Given the description of an element on the screen output the (x, y) to click on. 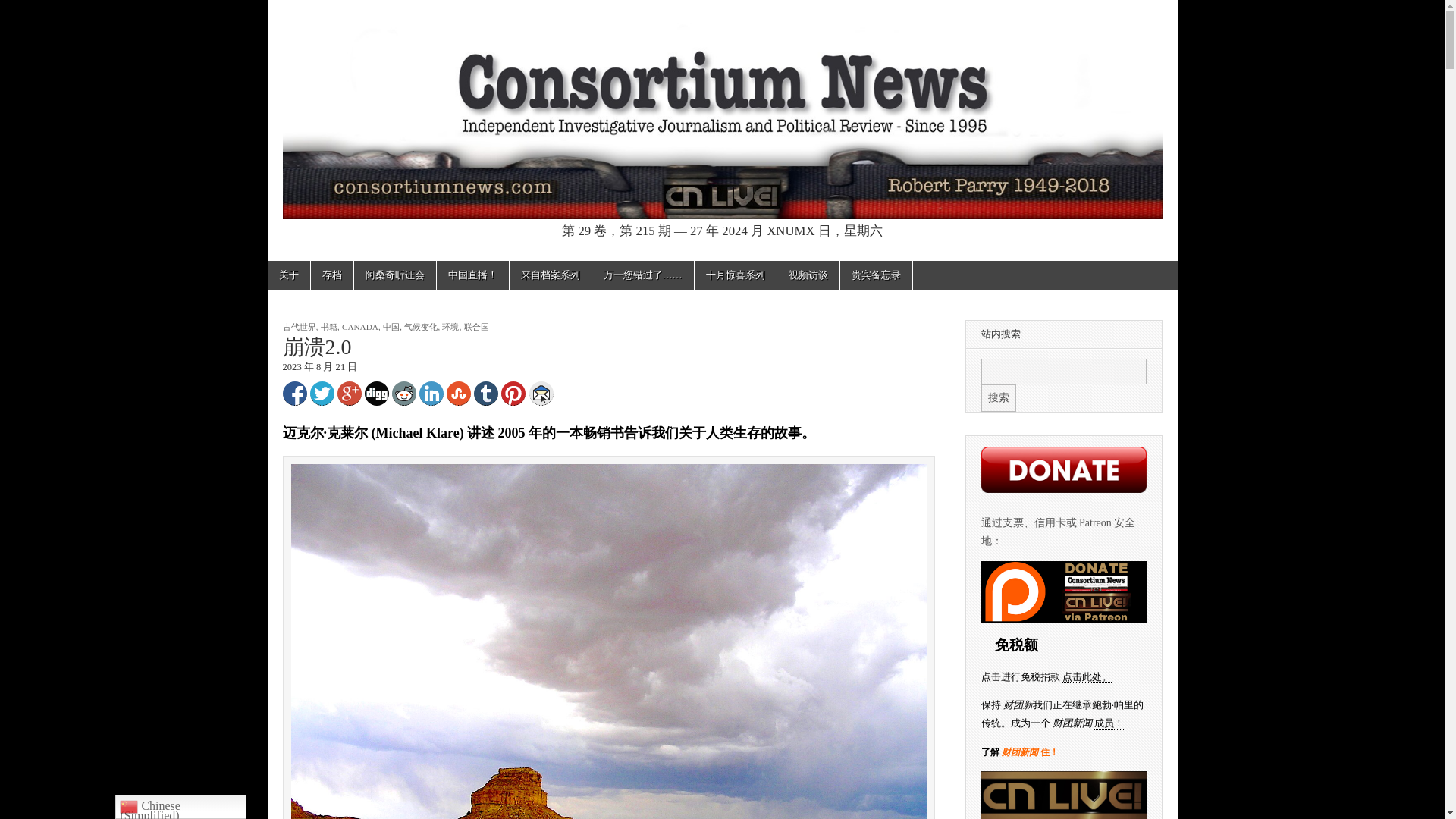
CANADA (360, 326)
